Given the description of an element on the screen output the (x, y) to click on. 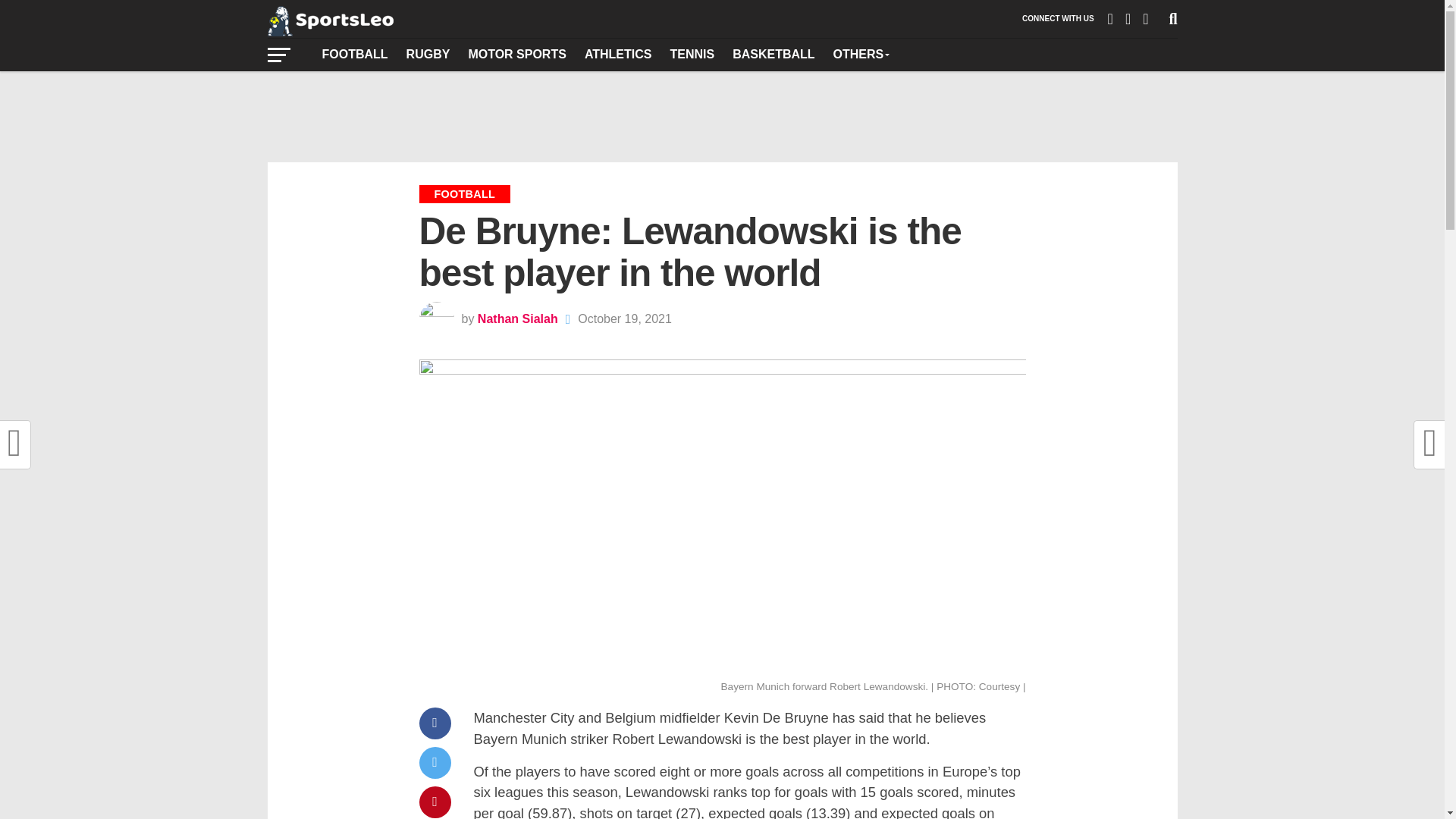
RUGBY (428, 54)
FOOTBALL (354, 54)
TENNIS (692, 54)
OTHERS (861, 54)
MOTOR SPORTS (516, 54)
Posts by Nathan Sialah (517, 318)
ATHLETICS (618, 54)
BASKETBALL (773, 54)
Nathan Sialah (517, 318)
